Given the description of an element on the screen output the (x, y) to click on. 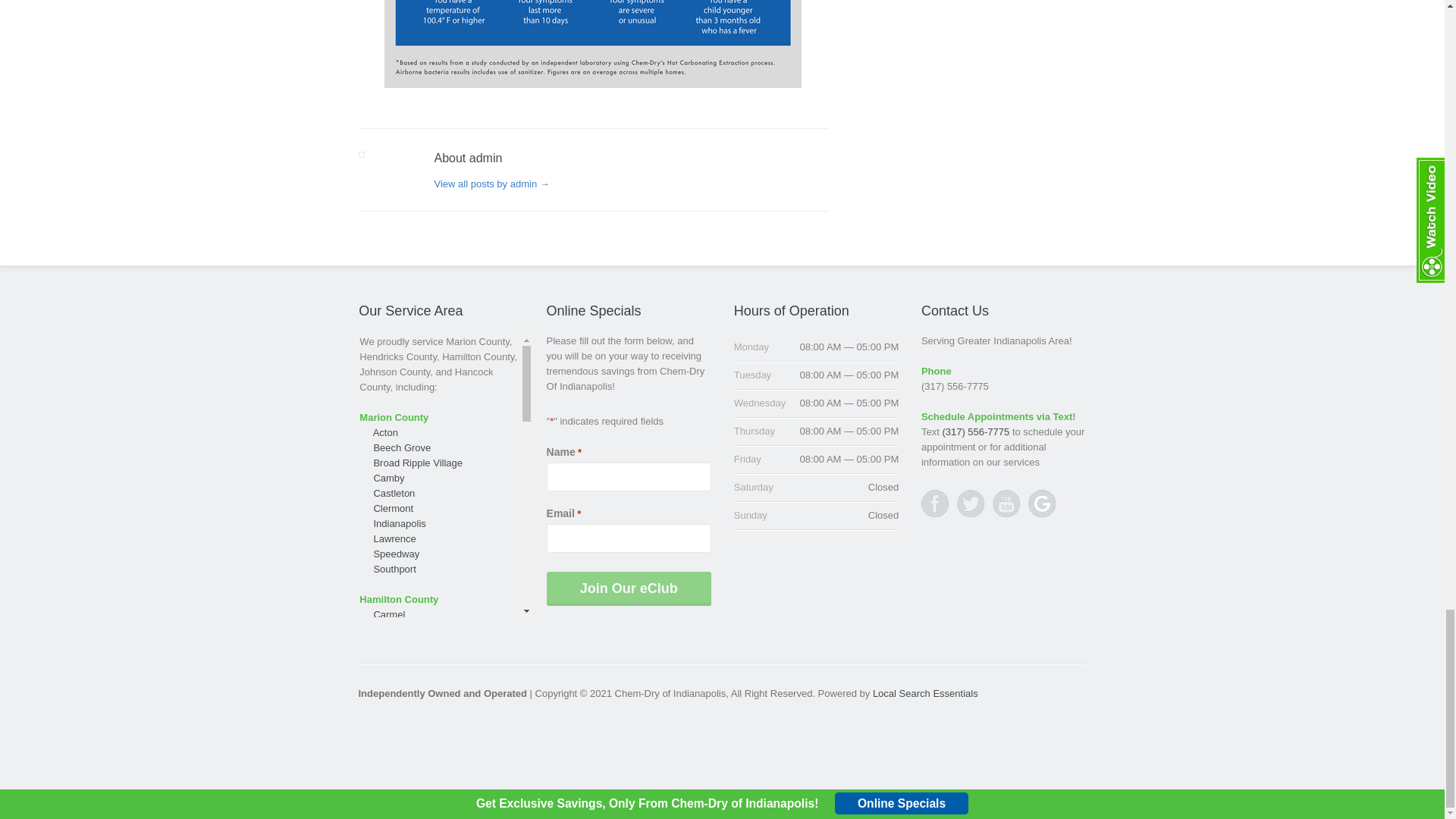
Acton (384, 432)
Beech Grove (401, 448)
Camby (388, 478)
Broad Ripple Village (417, 463)
Join Our eClub (629, 588)
